Given the description of an element on the screen output the (x, y) to click on. 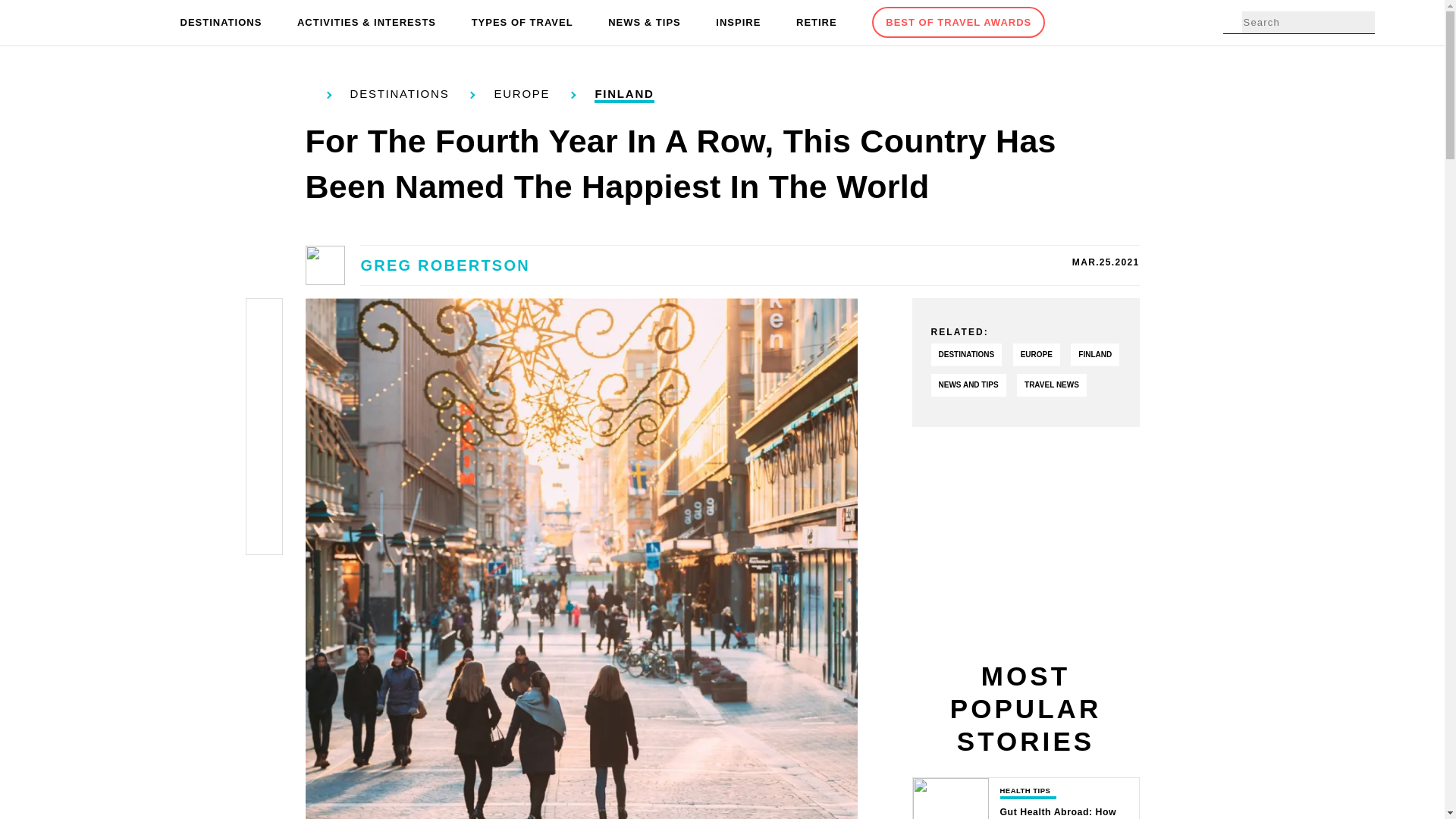
TYPES OF TRAVEL (522, 22)
Instagram (263, 426)
Email (263, 533)
Twitter (263, 355)
Pinterest (263, 391)
Facebook (263, 320)
DESTINATIONS (221, 22)
Flipboard (263, 462)
TravelAwaits (107, 22)
